Given the description of an element on the screen output the (x, y) to click on. 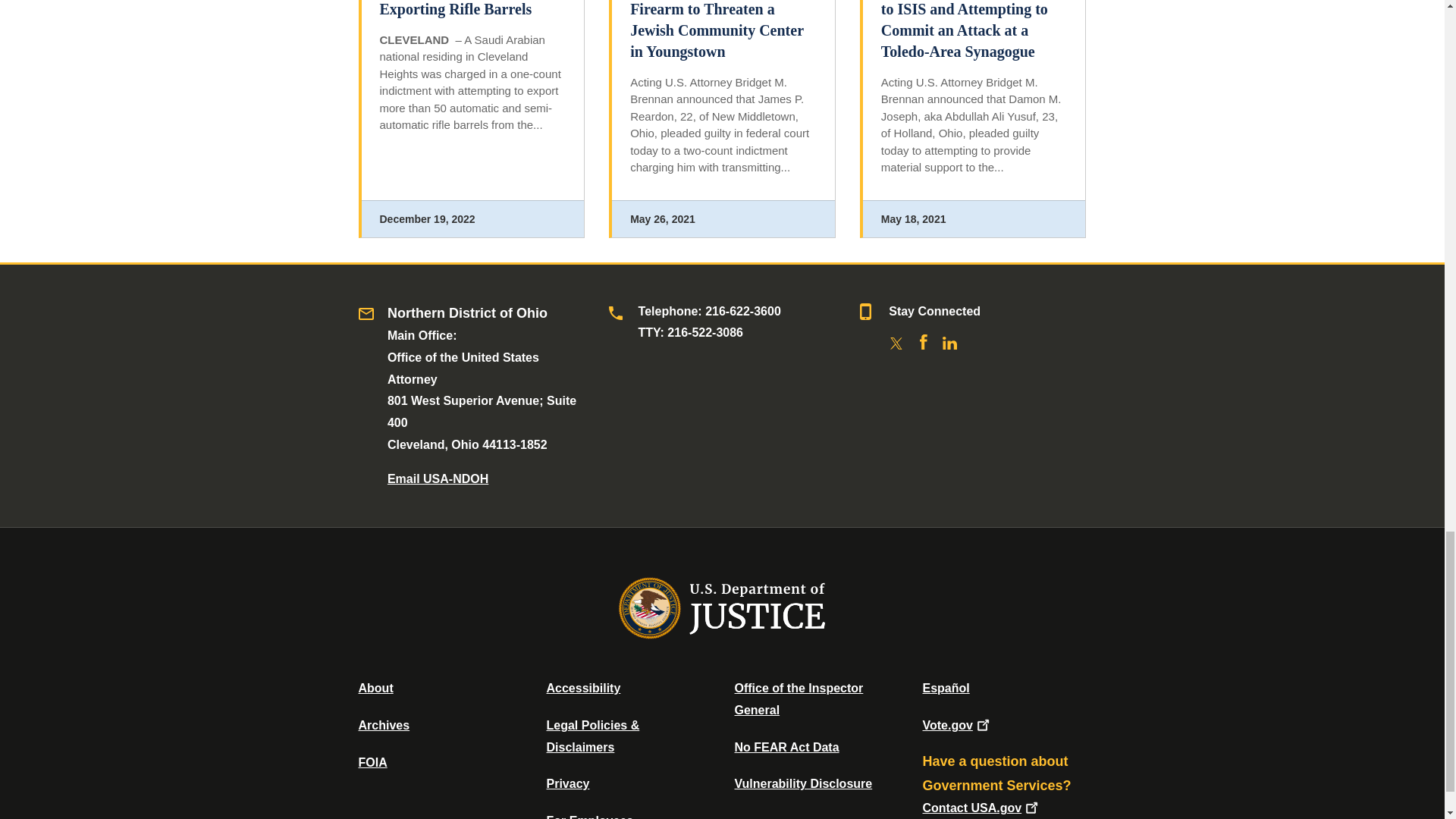
For Employees (589, 816)
Legal Policies and Disclaimers (592, 736)
Department of Justice Archive (383, 725)
Data Posted Pursuant To The No Fear Act (785, 747)
About DOJ (375, 687)
Office of Information Policy (372, 762)
Accessibility Statement (583, 687)
